Given the description of an element on the screen output the (x, y) to click on. 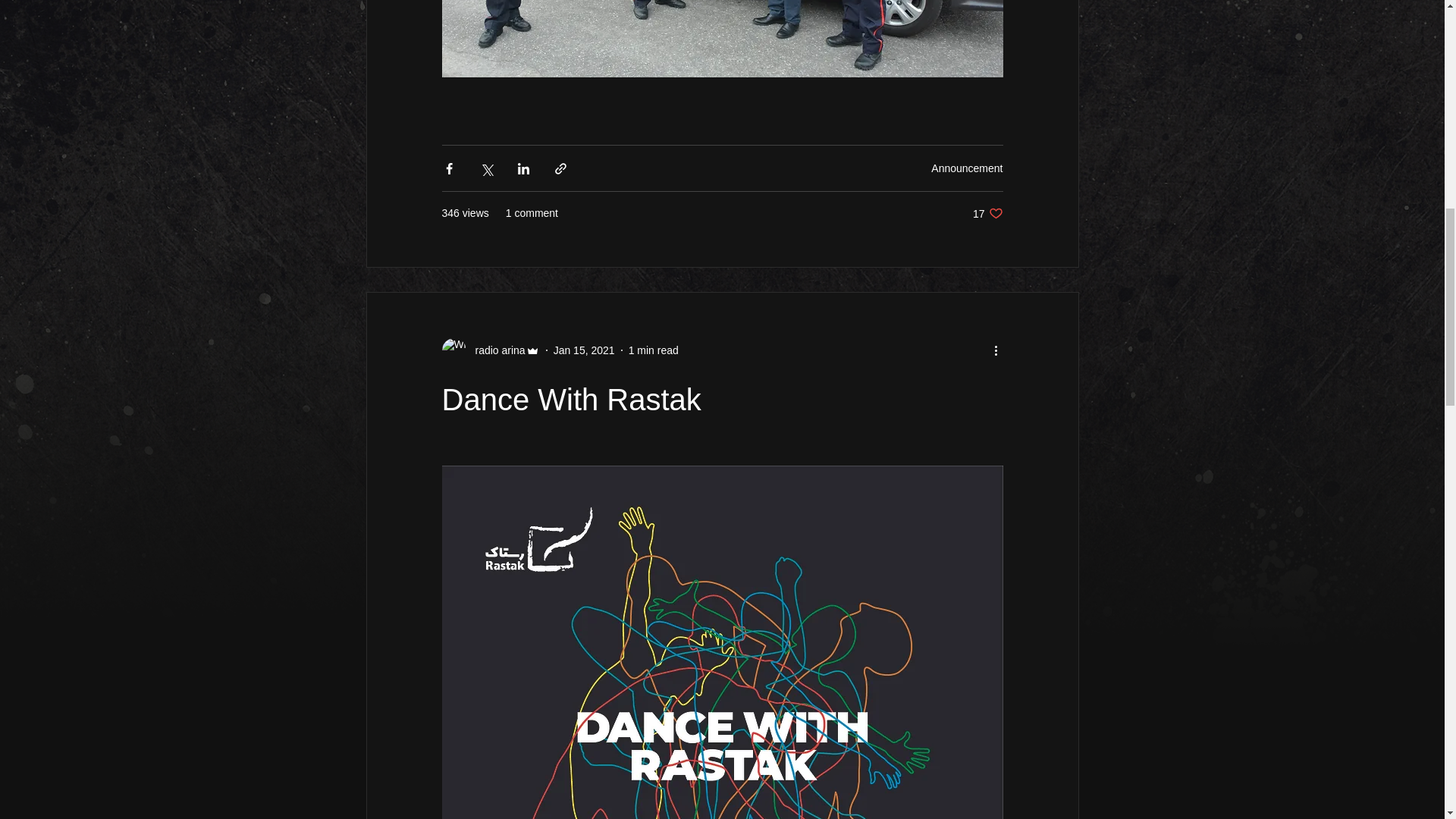
Dance With Rastak (987, 213)
radio arina (570, 399)
1 comment (494, 349)
1 min read (531, 213)
Announcement (653, 349)
Jan 15, 2021 (967, 168)
radio arina (583, 349)
